Given the description of an element on the screen output the (x, y) to click on. 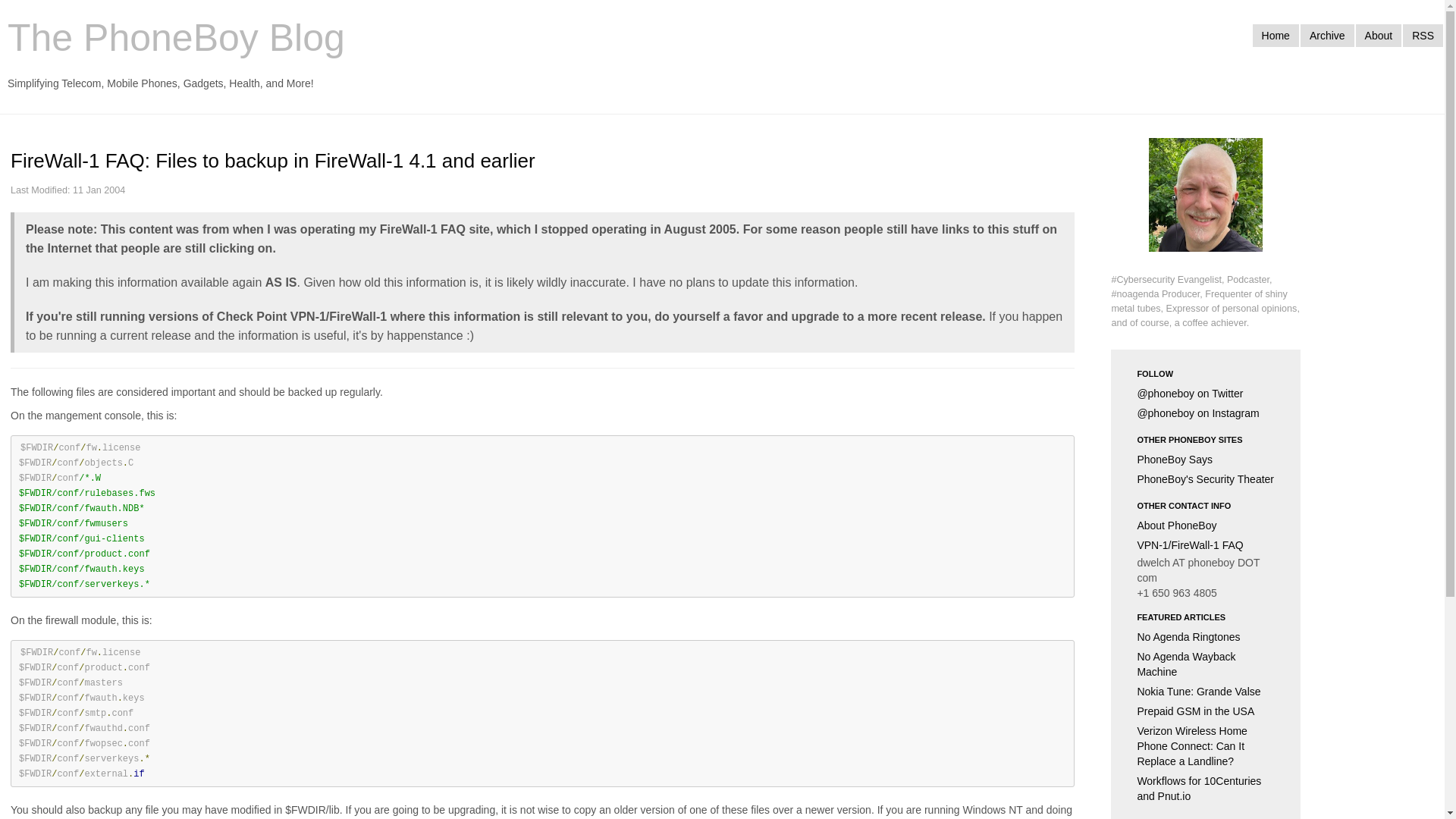
RSS (1422, 35)
About PhoneBoy (1205, 525)
PhoneBoy's Security Theater (1205, 478)
Archive (1327, 35)
Prepaid GSM in the USA (1205, 711)
PhoneBoy Says (1205, 459)
No Agenda Ringtones (1205, 637)
Home (1275, 35)
Workflows for 10Centuries and Pnut.io (1205, 788)
